Given the description of an element on the screen output the (x, y) to click on. 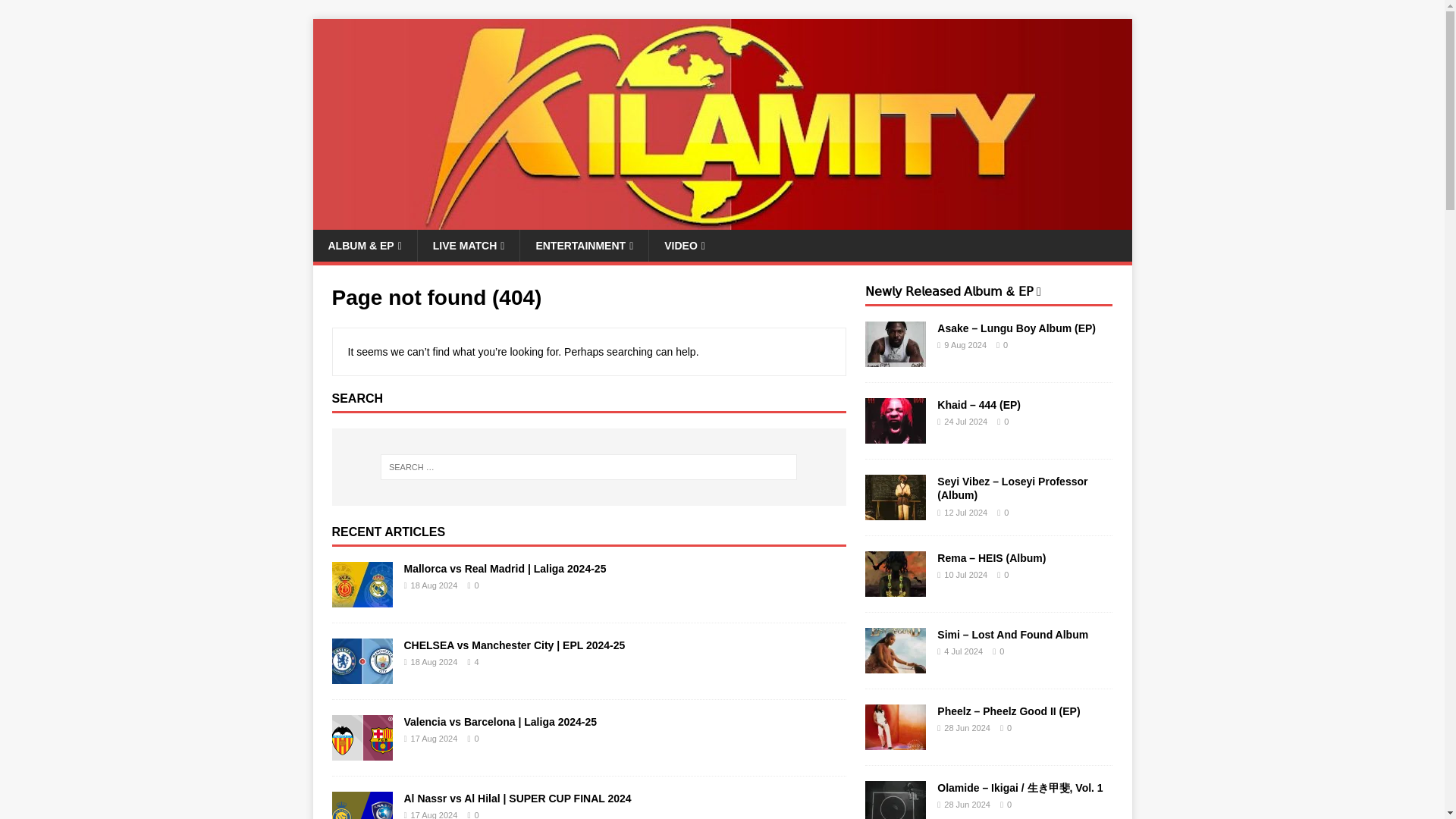
Kilamity (722, 221)
ENTERTAINMENT (583, 245)
VIDEO (683, 245)
Search (56, 11)
LIVE MATCH (467, 245)
